Given the description of an element on the screen output the (x, y) to click on. 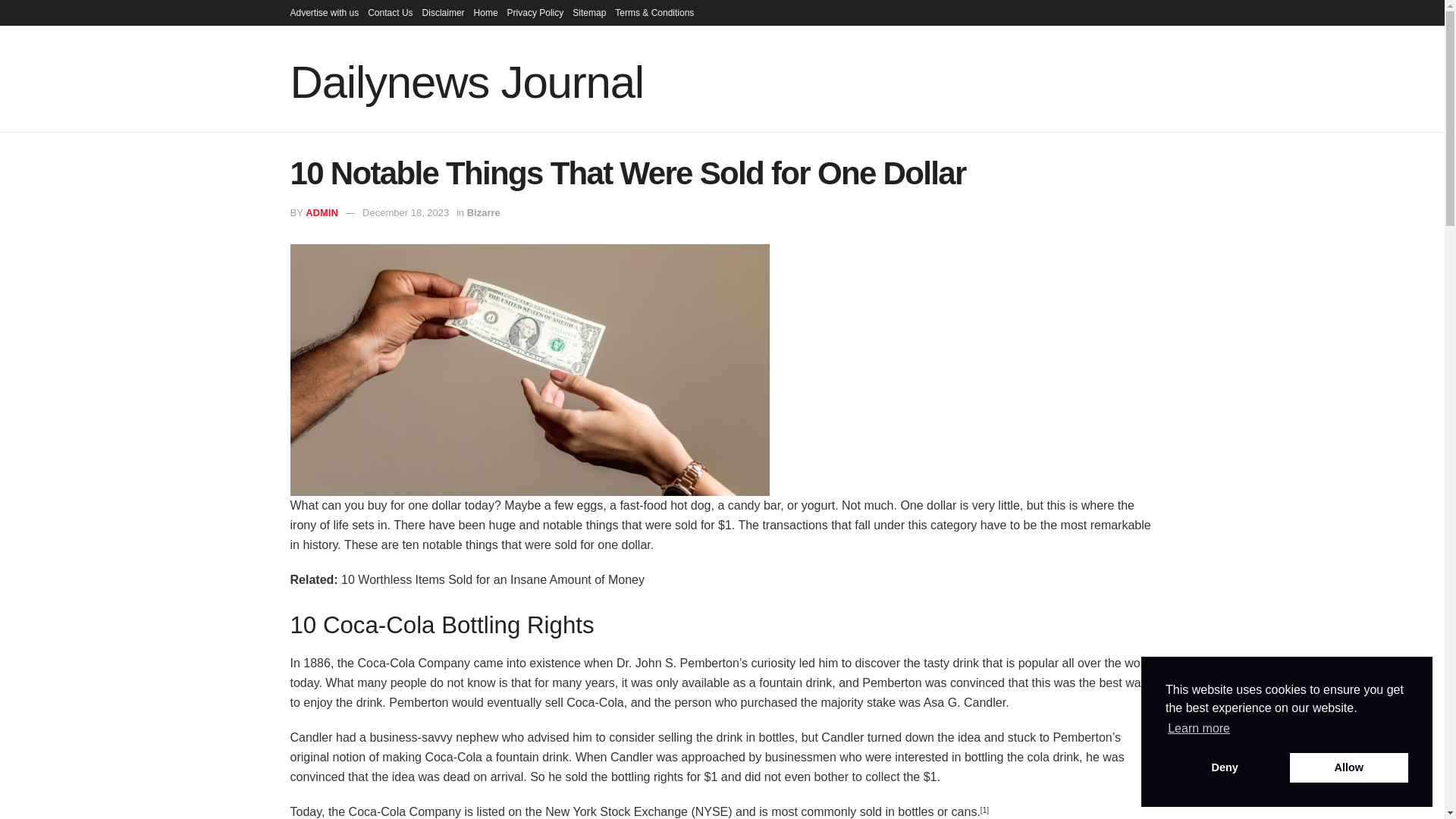
Dailynews Journal (466, 82)
Advertise with us (323, 12)
December 18, 2023 (405, 212)
Home (485, 12)
Disclaimer (443, 12)
Contact Us (390, 12)
Sitemap (588, 12)
Privacy Policy (535, 12)
ADMIN (321, 212)
Bizarre (483, 212)
